Given the description of an element on the screen output the (x, y) to click on. 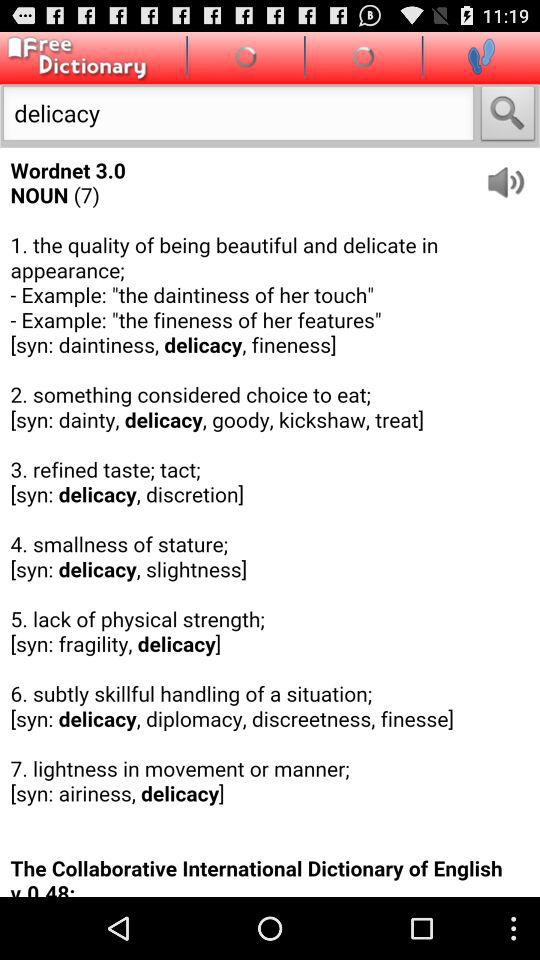
go to main page (74, 58)
